Given the description of an element on the screen output the (x, y) to click on. 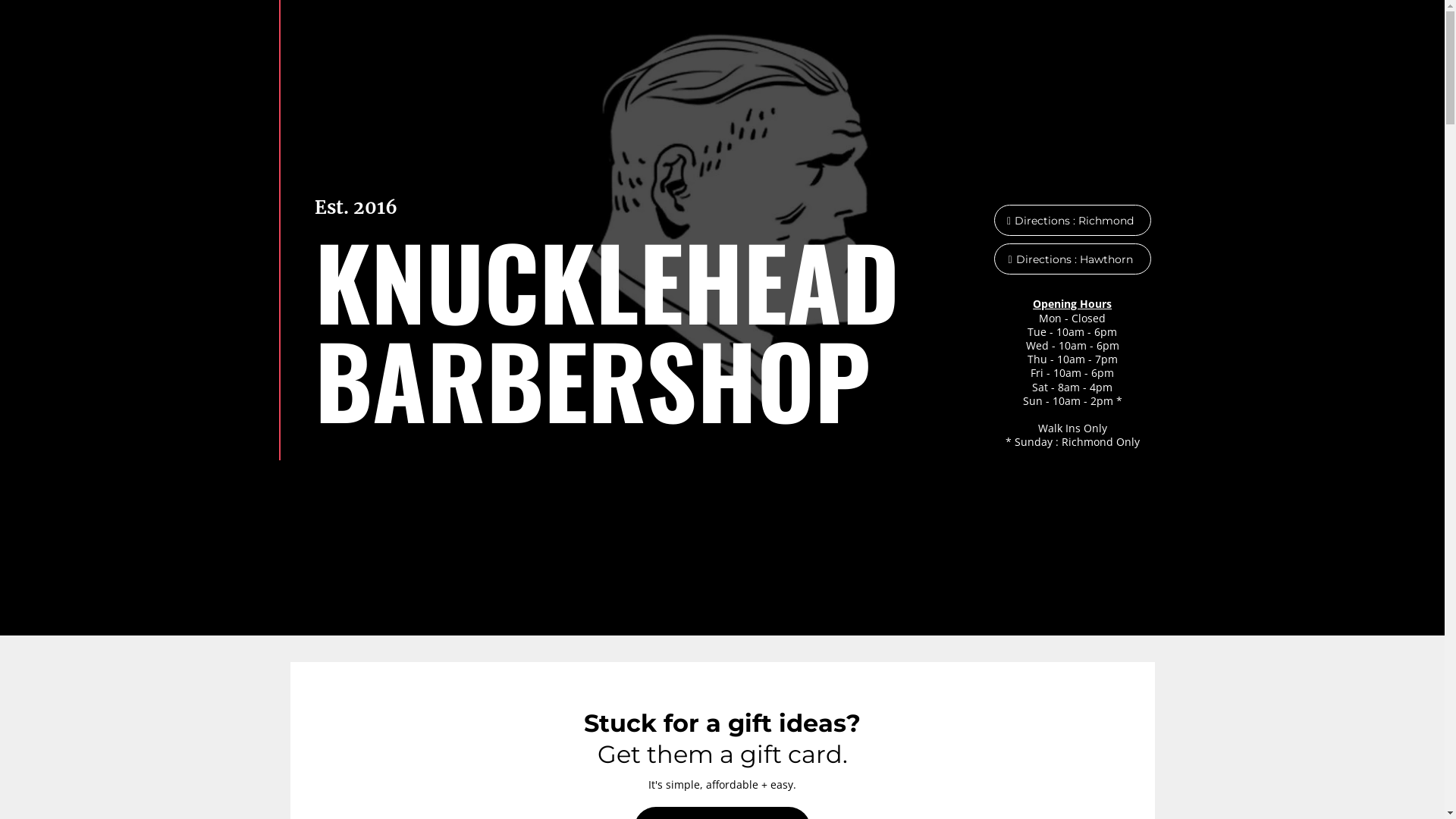
Directions : Hawthorn Element type: text (1072, 258)
Directions : Richmond Element type: text (1072, 219)
